Given the description of an element on the screen output the (x, y) to click on. 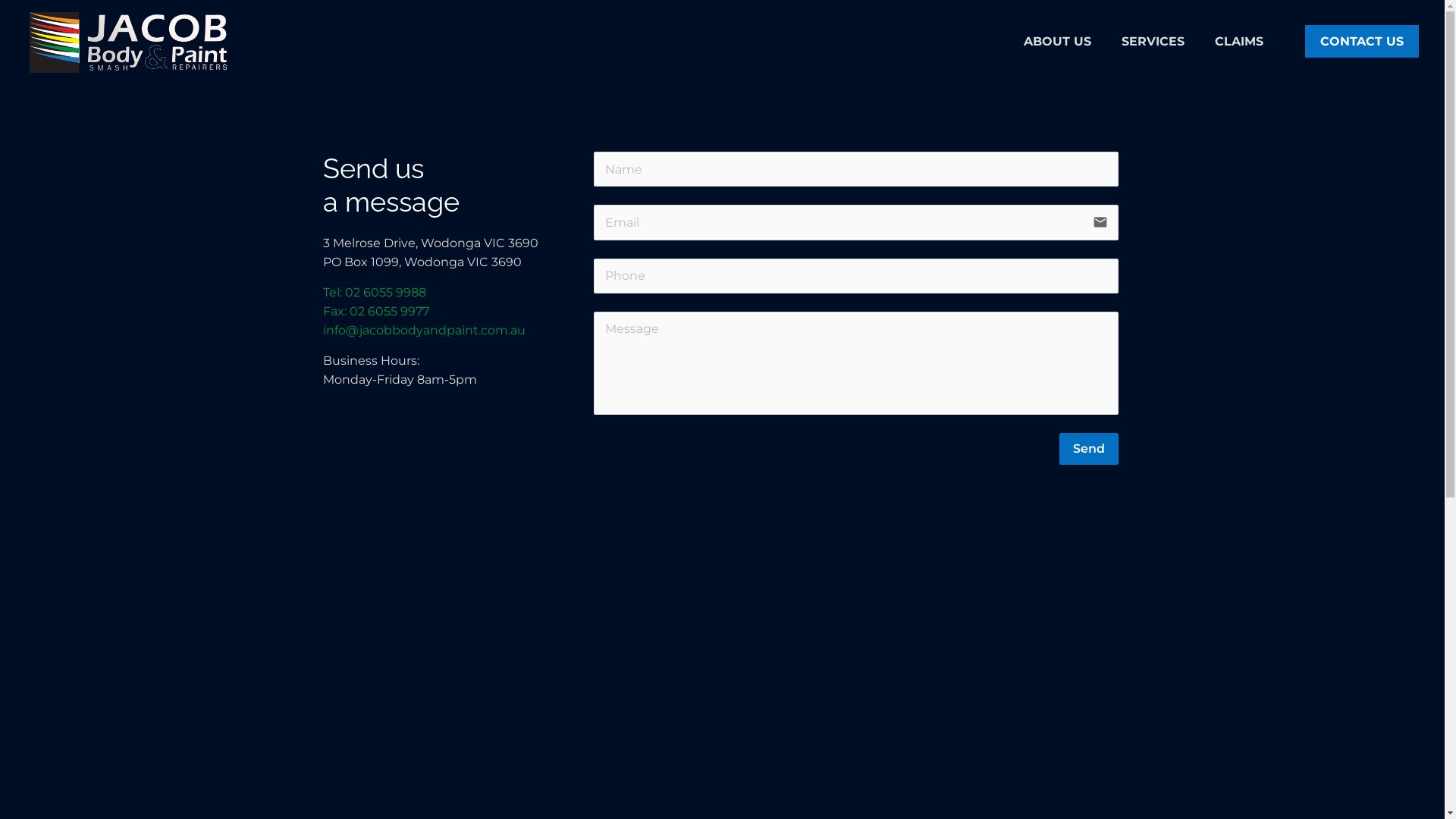
Send Element type: text (1088, 448)
SERVICES Element type: text (1152, 41)
CONTACT US Element type: text (1361, 41)
CLAIMS Element type: text (1238, 41)
02 6055 9988 Element type: text (385, 292)
Jacob Body and Paint Element type: hover (129, 41)
ABOUT US Element type: text (1057, 41)
info@jacobbodyandpaint.com.au Element type: text (424, 330)
